Given the description of an element on the screen output the (x, y) to click on. 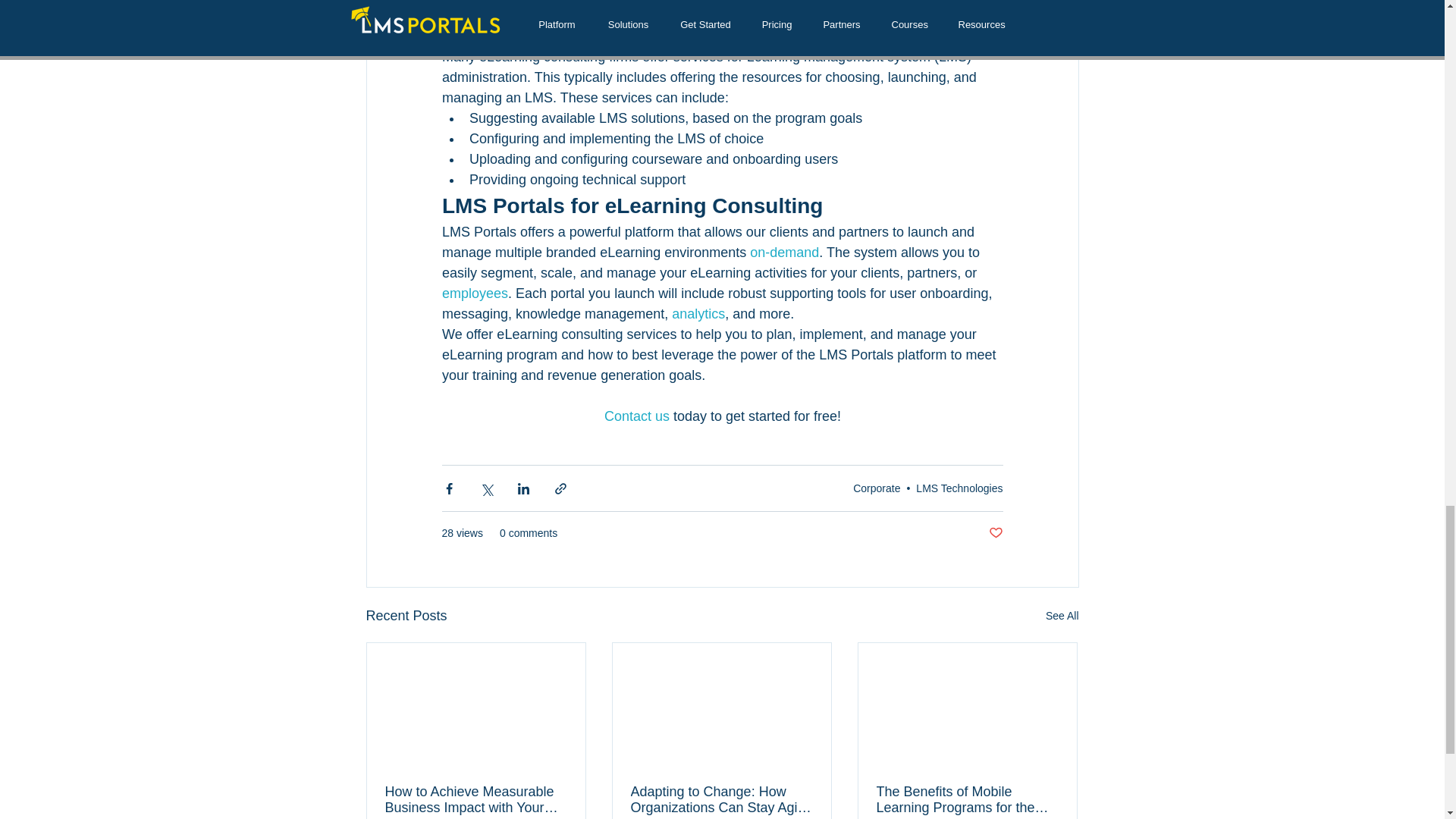
on-demand (783, 252)
